Given the description of an element on the screen output the (x, y) to click on. 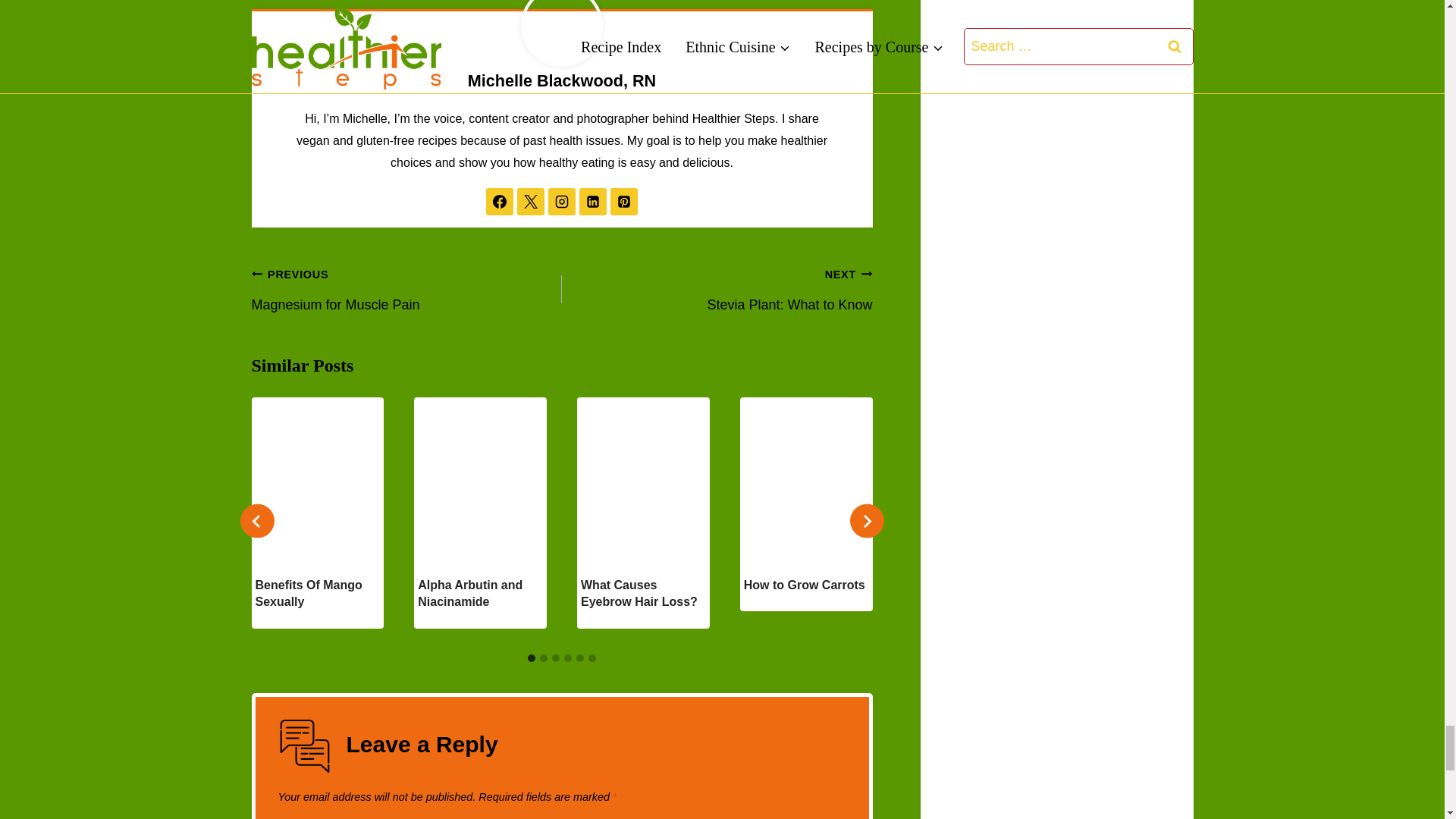
Follow Michelle Blackwood, RN on Instagram (561, 201)
Posts by Michelle Blackwood, RN (561, 80)
Follow Michelle Blackwood, RN on Pinterest (623, 201)
Follow Michelle Blackwood, RN on Linkedin (593, 201)
Follow Michelle Blackwood, RN on Facebook (499, 201)
Follow Michelle Blackwood, RN on X formerly Twitter (530, 201)
